Given the description of an element on the screen output the (x, y) to click on. 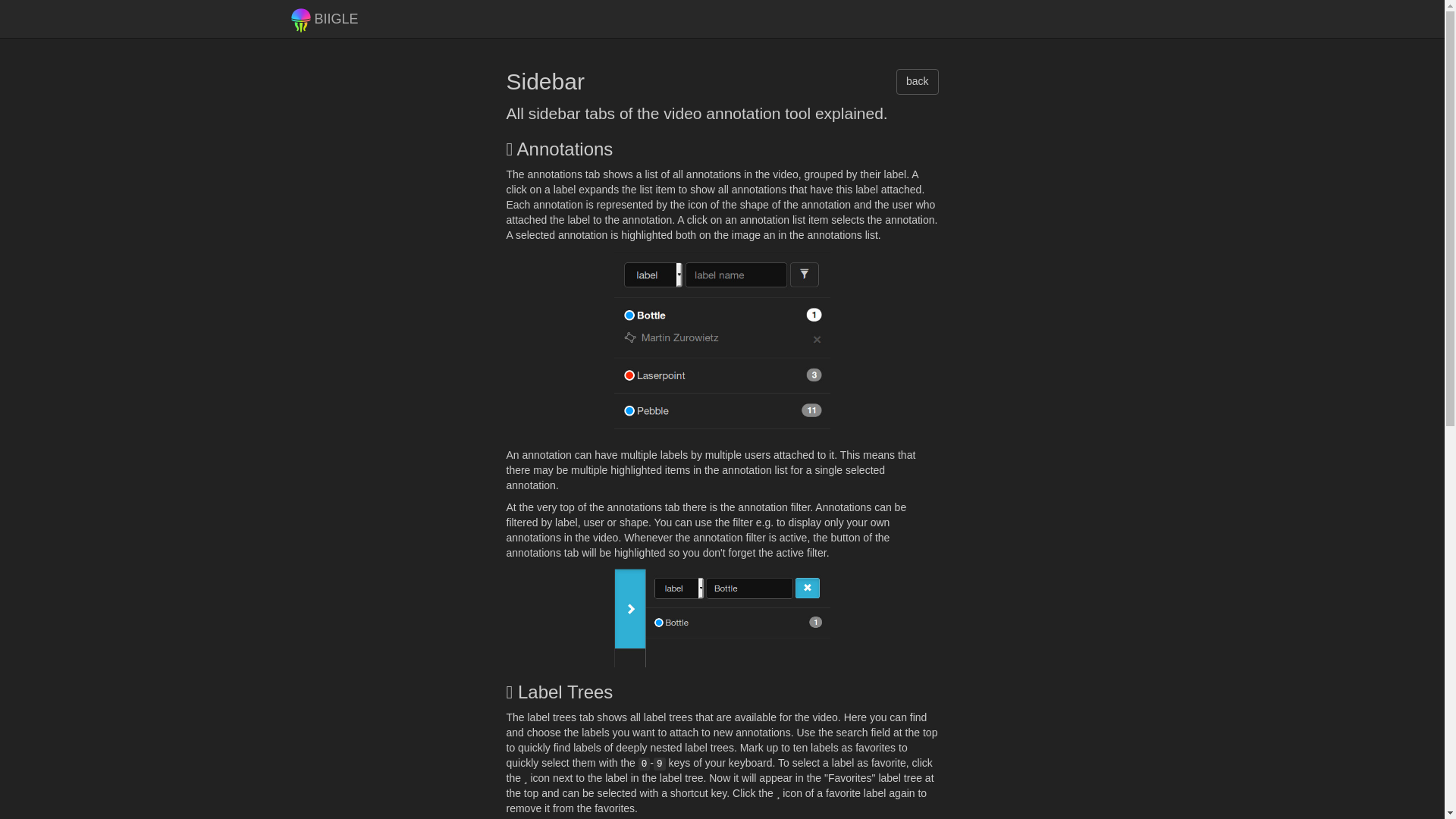
BIIGLE (324, 18)
back (917, 81)
Go back to the manual (917, 81)
